Given the description of an element on the screen output the (x, y) to click on. 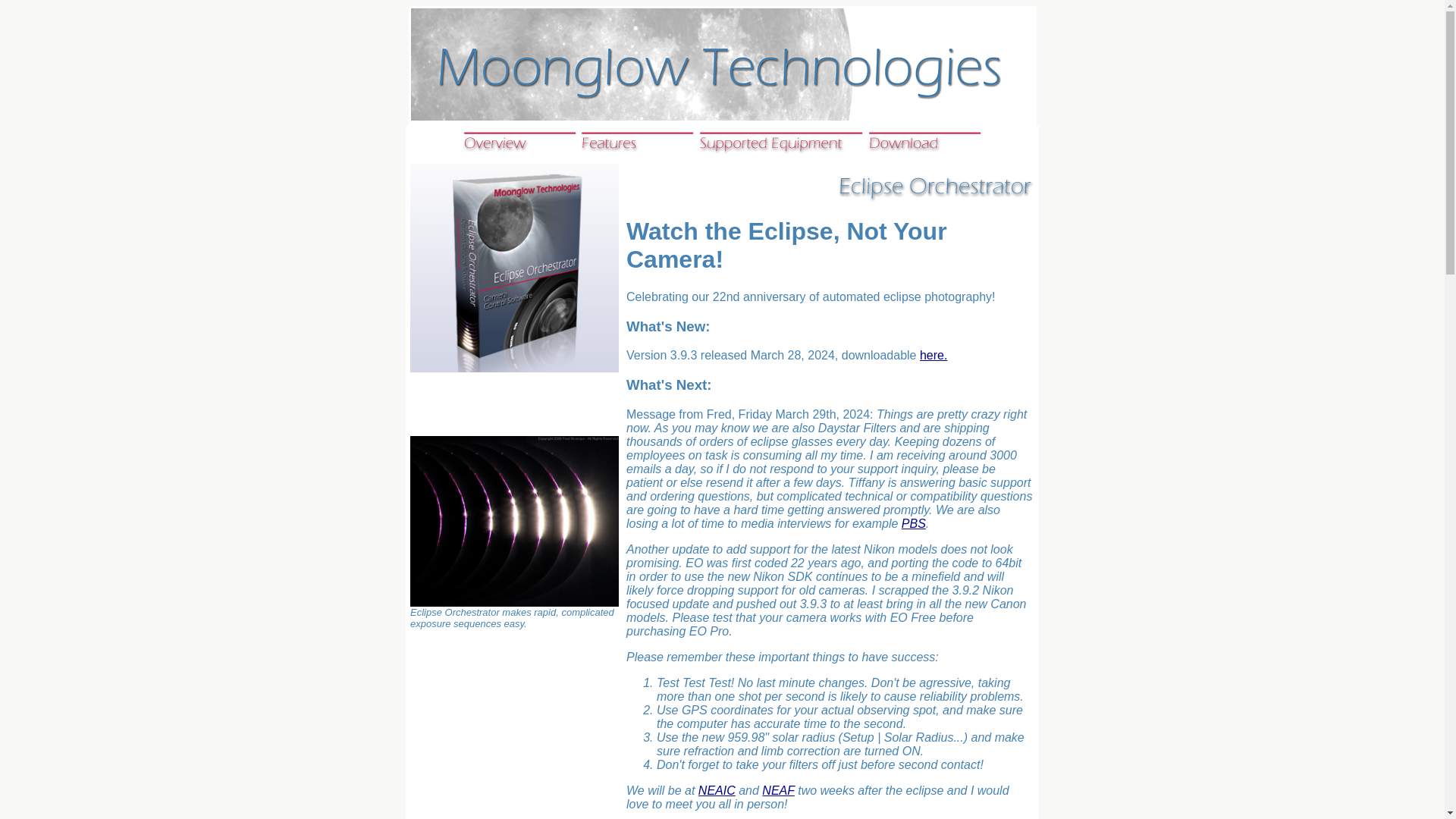
NEAF (777, 789)
here. (933, 354)
PBS (913, 522)
NEAIC (716, 789)
